Given the description of an element on the screen output the (x, y) to click on. 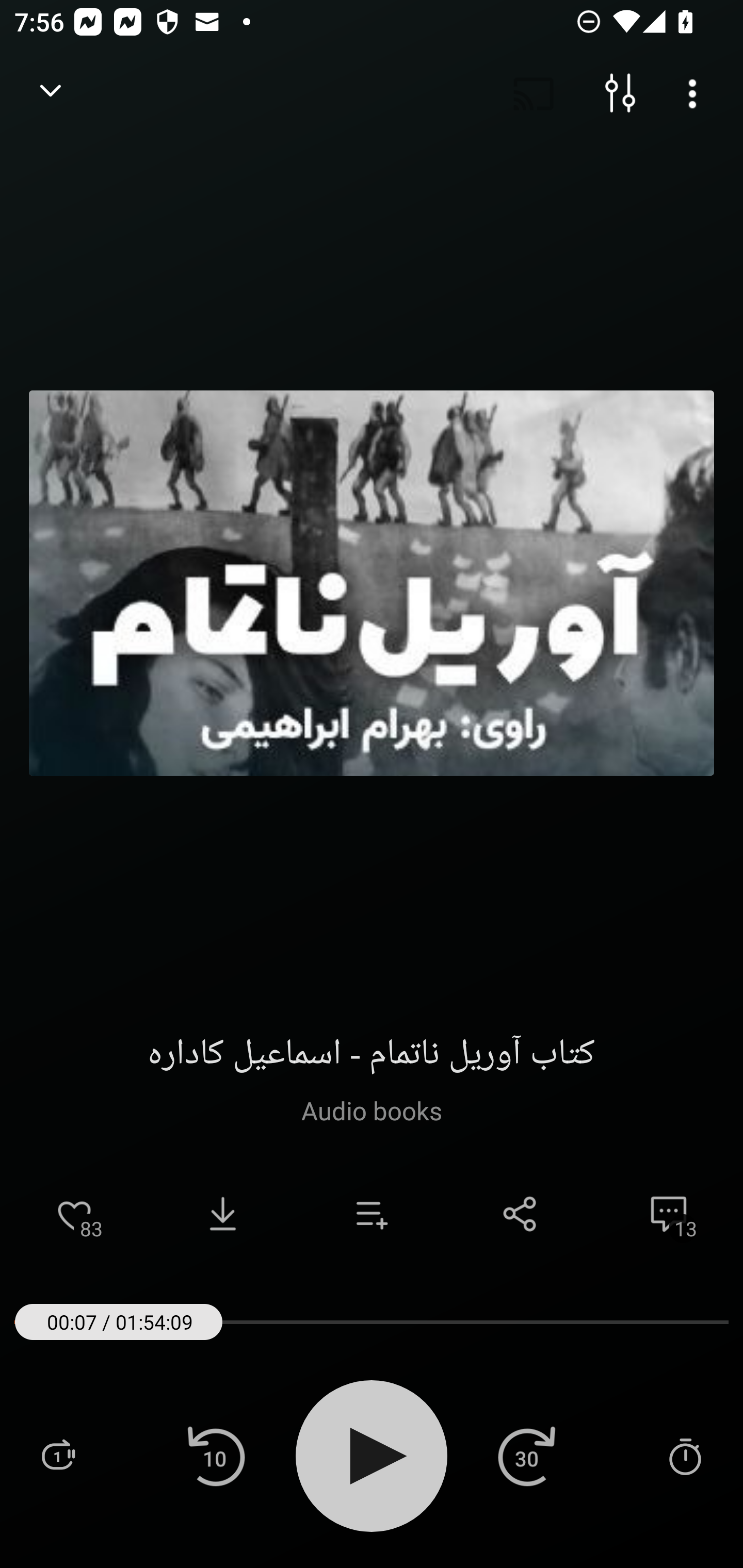
 Back (50, 94)
Audio books (370, 1109)
Share (519, 1214)
13 Comments (668, 1214)
Add to Favorites (73, 1214)
Add to playlist (371, 1214)
 Playlist (57, 1455)
Sleep Timer  (684, 1455)
